Given the description of an element on the screen output the (x, y) to click on. 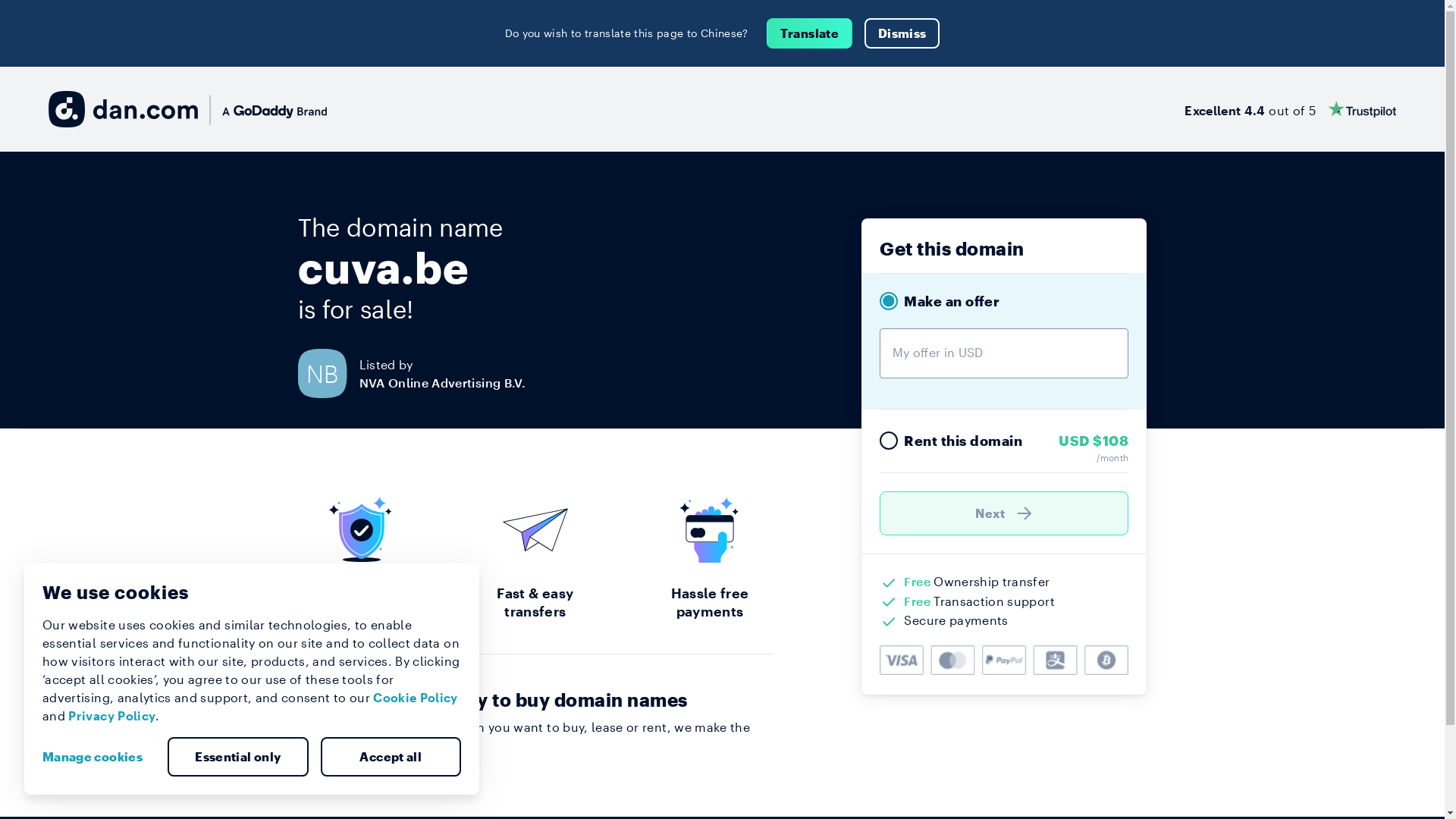
Excellent 4.4 out of 5 Element type: text (1290, 109)
Next
) Element type: text (1003, 513)
Accept all Element type: text (390, 756)
Manage cookies Element type: text (98, 756)
Translate Element type: text (809, 33)
Cookie Policy Element type: text (415, 697)
Dismiss Element type: text (901, 33)
Essential only Element type: text (237, 756)
Privacy Policy Element type: text (111, 715)
